Given the description of an element on the screen output the (x, y) to click on. 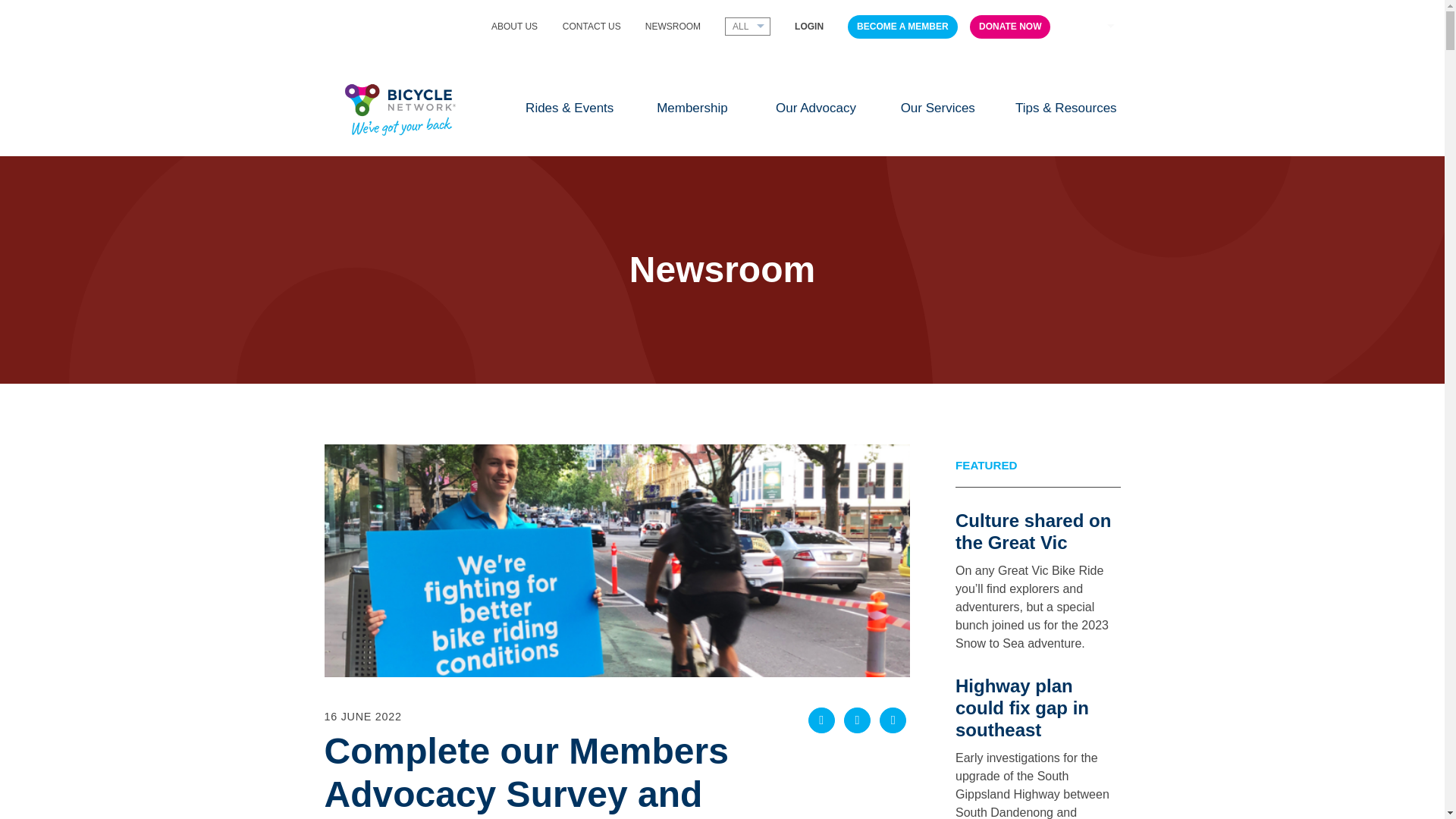
Bicycle Network (400, 108)
Membership (691, 108)
NEWSROOM (672, 25)
Email to a Friend (892, 720)
DONATE NOW (1009, 26)
Share on Facebook (821, 720)
Newsroom (672, 25)
Culture shared on the Great Vic (1032, 531)
Our Campaigns (816, 108)
Our Services (937, 108)
LOGIN (809, 25)
BECOME A MEMBER (901, 26)
ABOUT US (514, 25)
Highway plan could fix gap in southeast (1022, 707)
Memberships (691, 108)
